Given the description of an element on the screen output the (x, y) to click on. 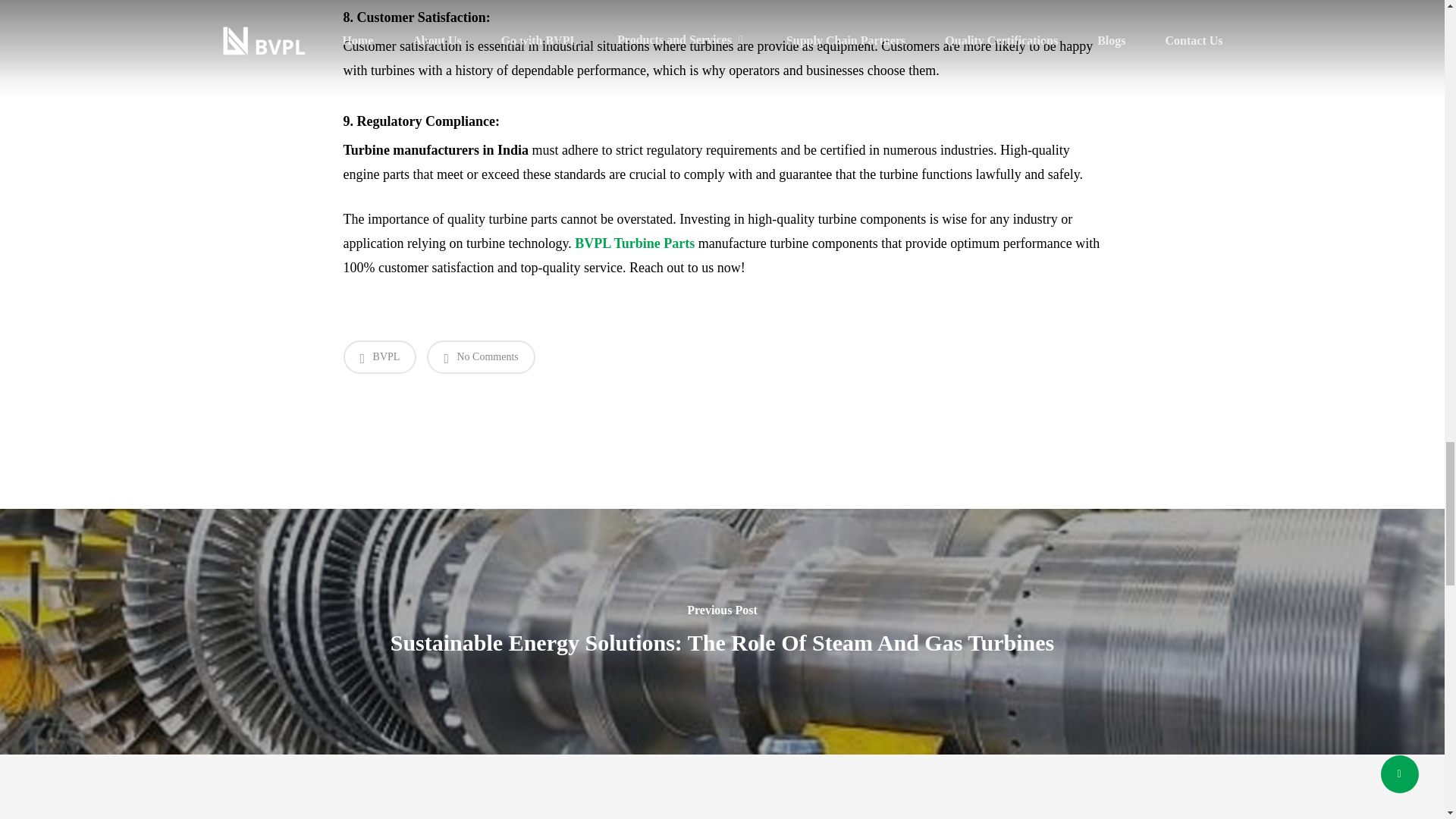
BVPL (379, 356)
No Comments (480, 356)
BVPL Turbine Parts (634, 242)
